Given the description of an element on the screen output the (x, y) to click on. 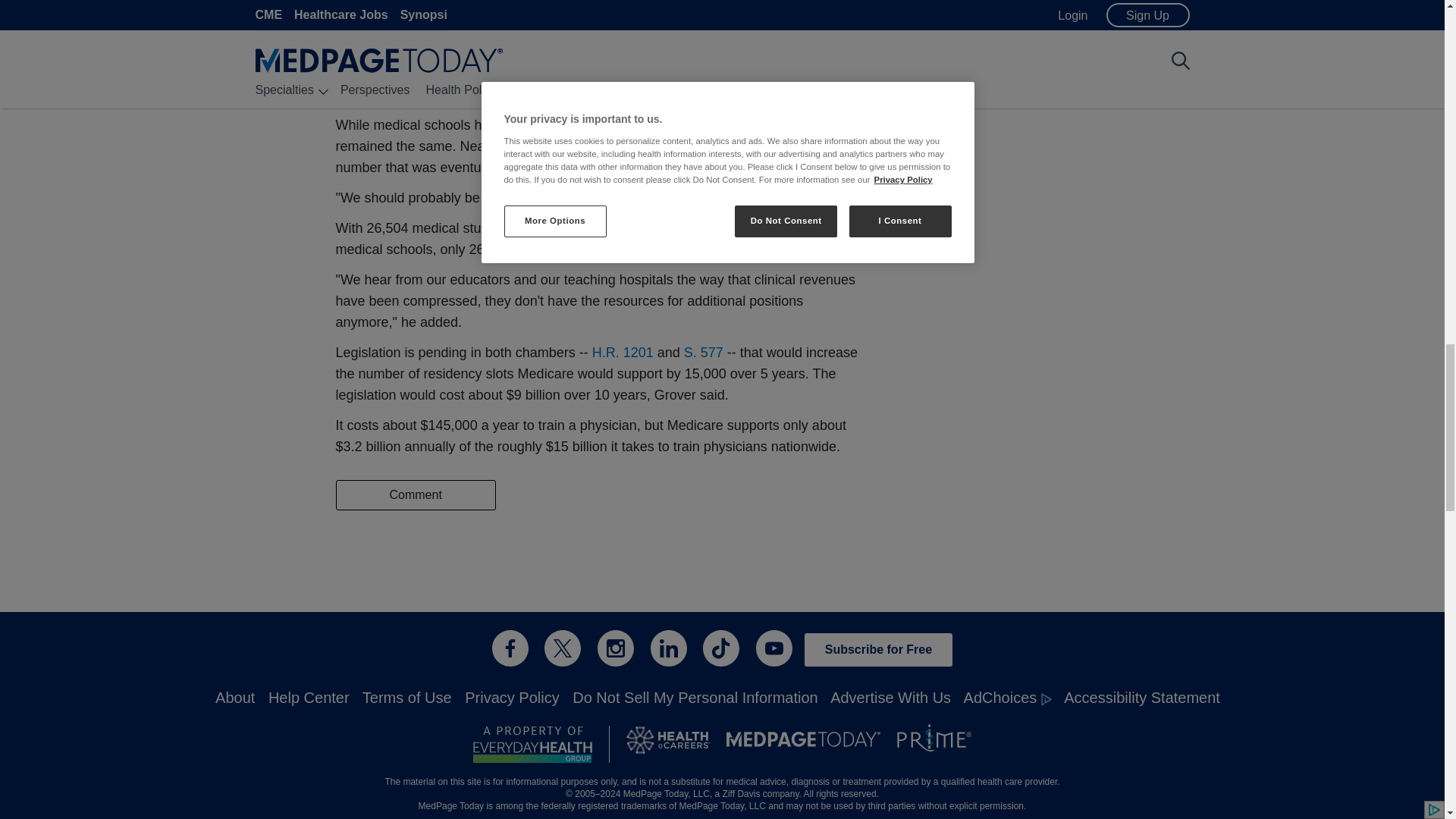
Visit us on Instagram. Opens in a new tab or window (614, 647)
Visit us on Facebook. Opens in a new tab or window (510, 647)
Opens in a new tab or window (532, 744)
Visit us on X. Opens in a new tab or window (562, 647)
Opens in a new tab or window (703, 352)
Visit us on TikTok. Opens in a new tab or window (721, 647)
Visit us on YouTube. Opens in a new tab or window (773, 647)
Visit us on LinkedIn. Opens in a new tab or window (668, 647)
Opens in a new tab or window (622, 352)
